Given the description of an element on the screen output the (x, y) to click on. 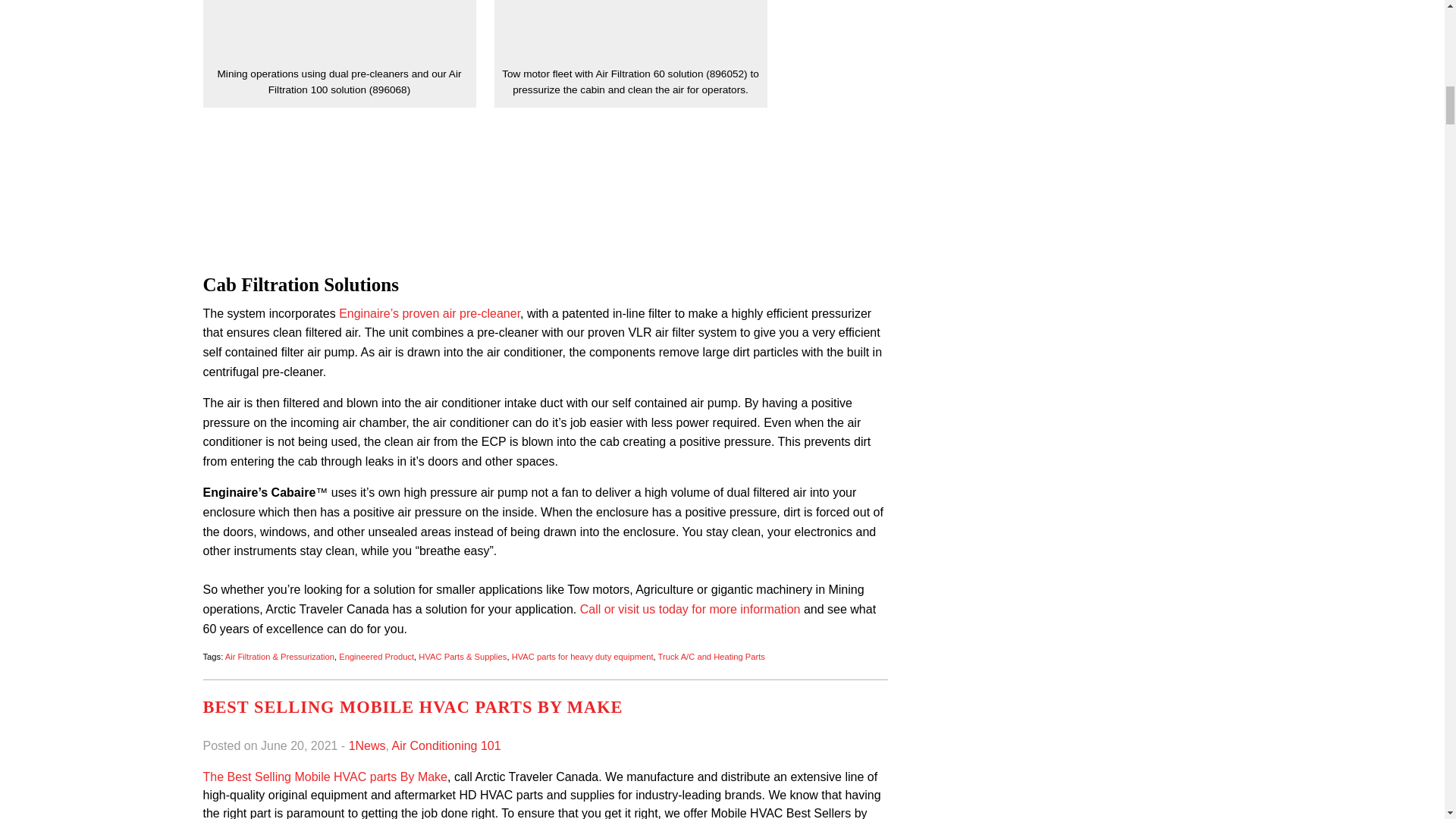
Best Selling Mobile HVAC parts by Make (413, 706)
